Given the description of an element on the screen output the (x, y) to click on. 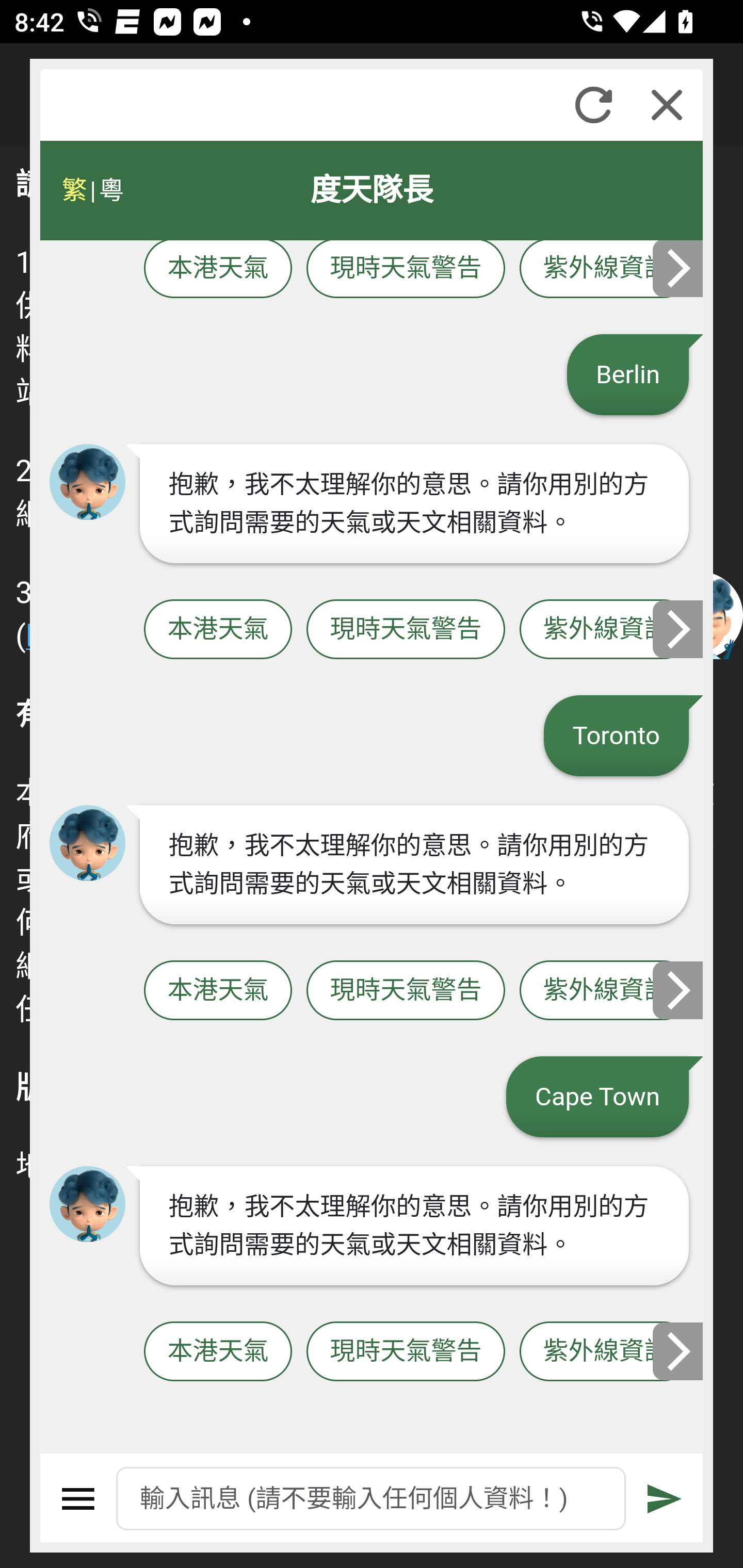
重新整理 (593, 104)
關閉 (666, 104)
繁 (73, 190)
粵 (110, 190)
本港天氣 (217, 268)
現時天氣警告 (405, 268)
紫外線資訊 (605, 268)
下一張 (678, 267)
本港天氣 (217, 629)
現時天氣警告 (405, 629)
紫外線資訊 (605, 629)
下一張 (678, 628)
本港天氣 (217, 990)
現時天氣警告 (405, 990)
紫外線資訊 (605, 990)
下一張 (678, 989)
本港天氣 (217, 1351)
現時天氣警告 (405, 1351)
紫外線資訊 (605, 1351)
下一張 (678, 1351)
選單 (78, 1498)
遞交 (665, 1498)
